Given the description of an element on the screen output the (x, y) to click on. 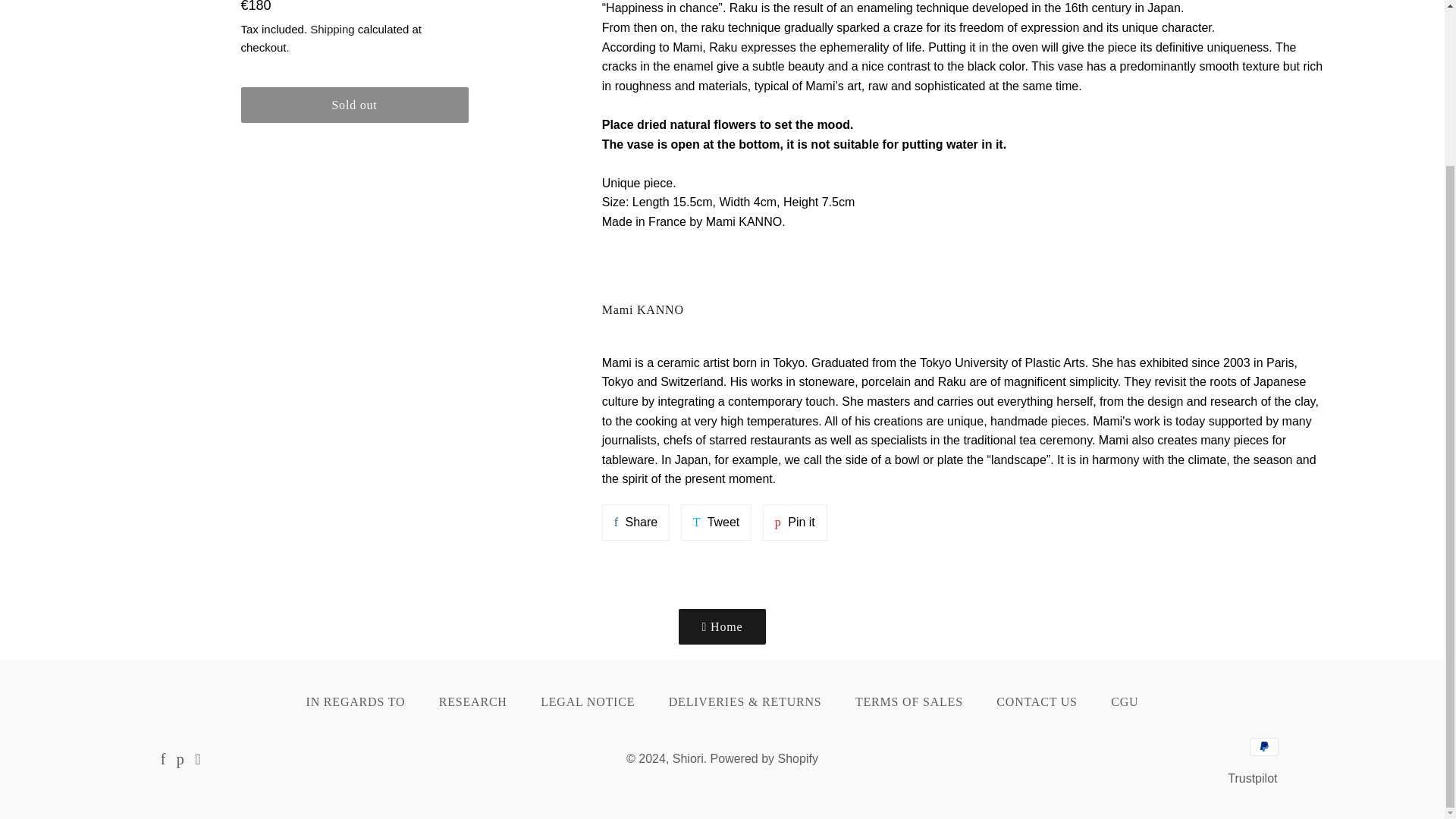
Tweet on Twitter (716, 522)
Share on Facebook (635, 522)
Pin on Pinterest (794, 522)
PayPal (1263, 746)
